Given the description of an element on the screen output the (x, y) to click on. 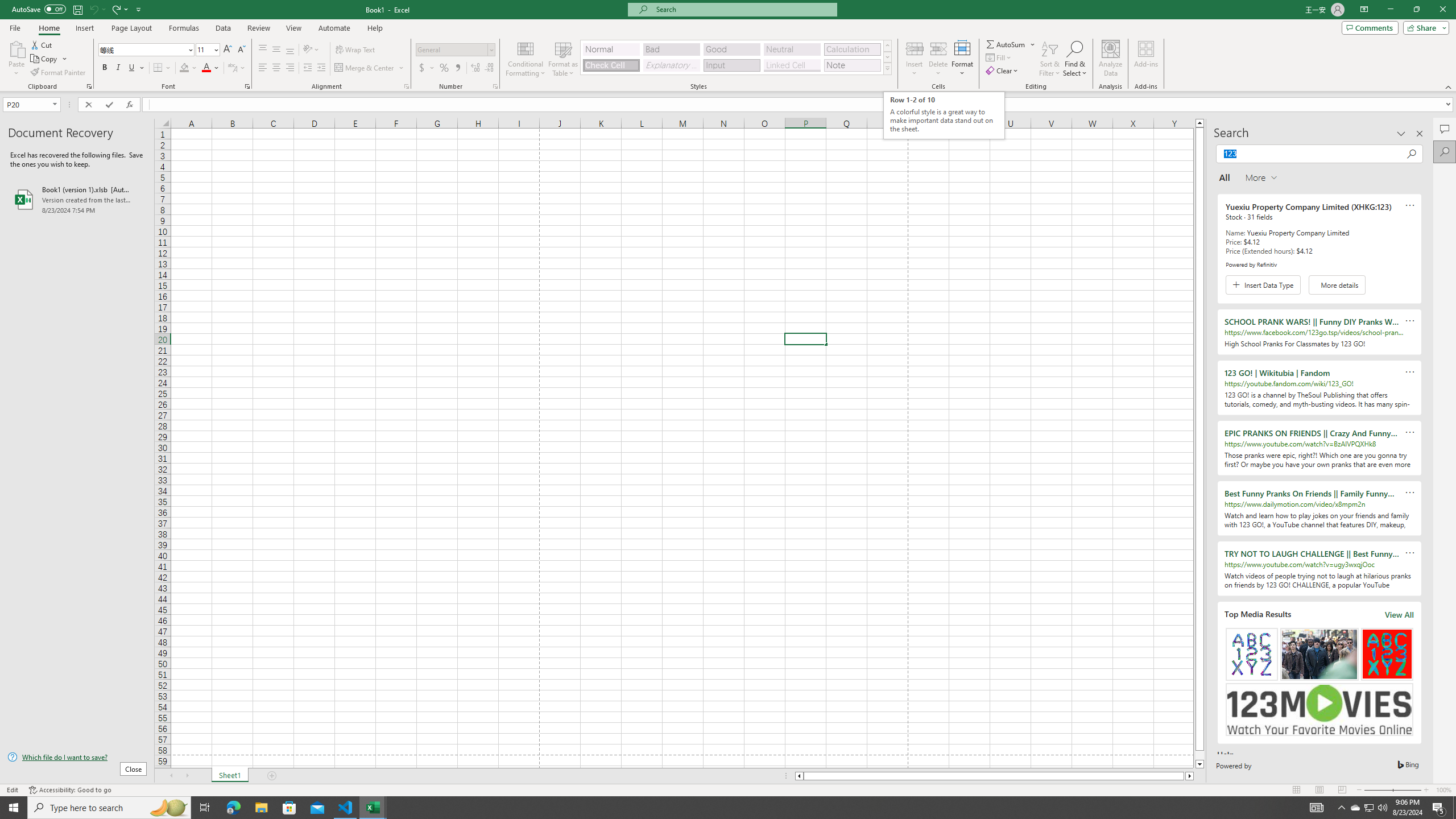
Show Phonetic Field (231, 67)
Merge & Center (365, 67)
Increase Indent (320, 67)
Show Phonetic Field (236, 67)
Center (276, 67)
